Given the description of an element on the screen output the (x, y) to click on. 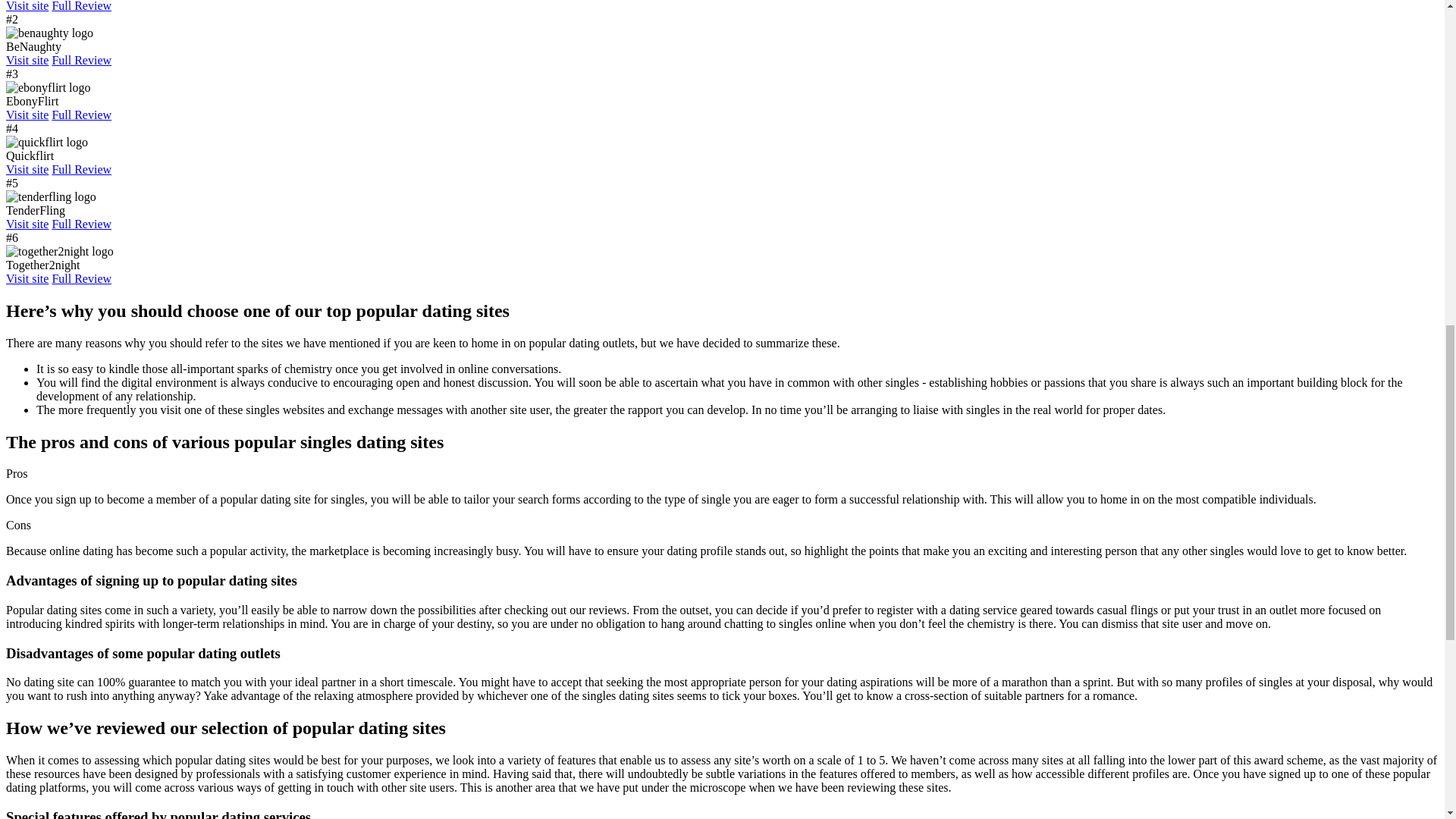
Visit site (26, 114)
Full Review (81, 114)
Full Review (81, 60)
Visit site (26, 60)
Full Review (81, 6)
Visit site (26, 6)
